Given the description of an element on the screen output the (x, y) to click on. 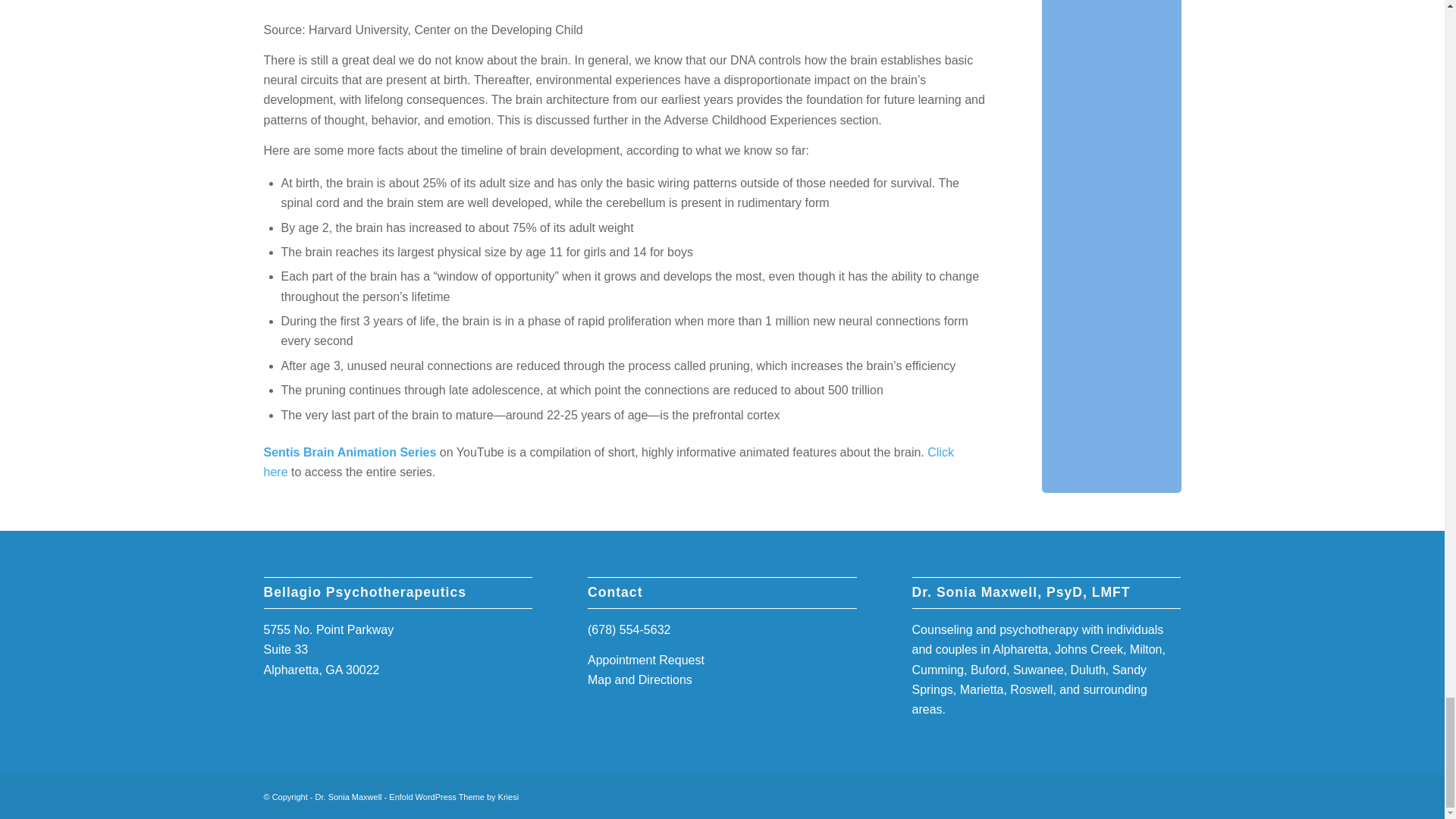
Facebook (1124, 793)
Instagram (1146, 793)
Mail (1169, 793)
